Given the description of an element on the screen output the (x, y) to click on. 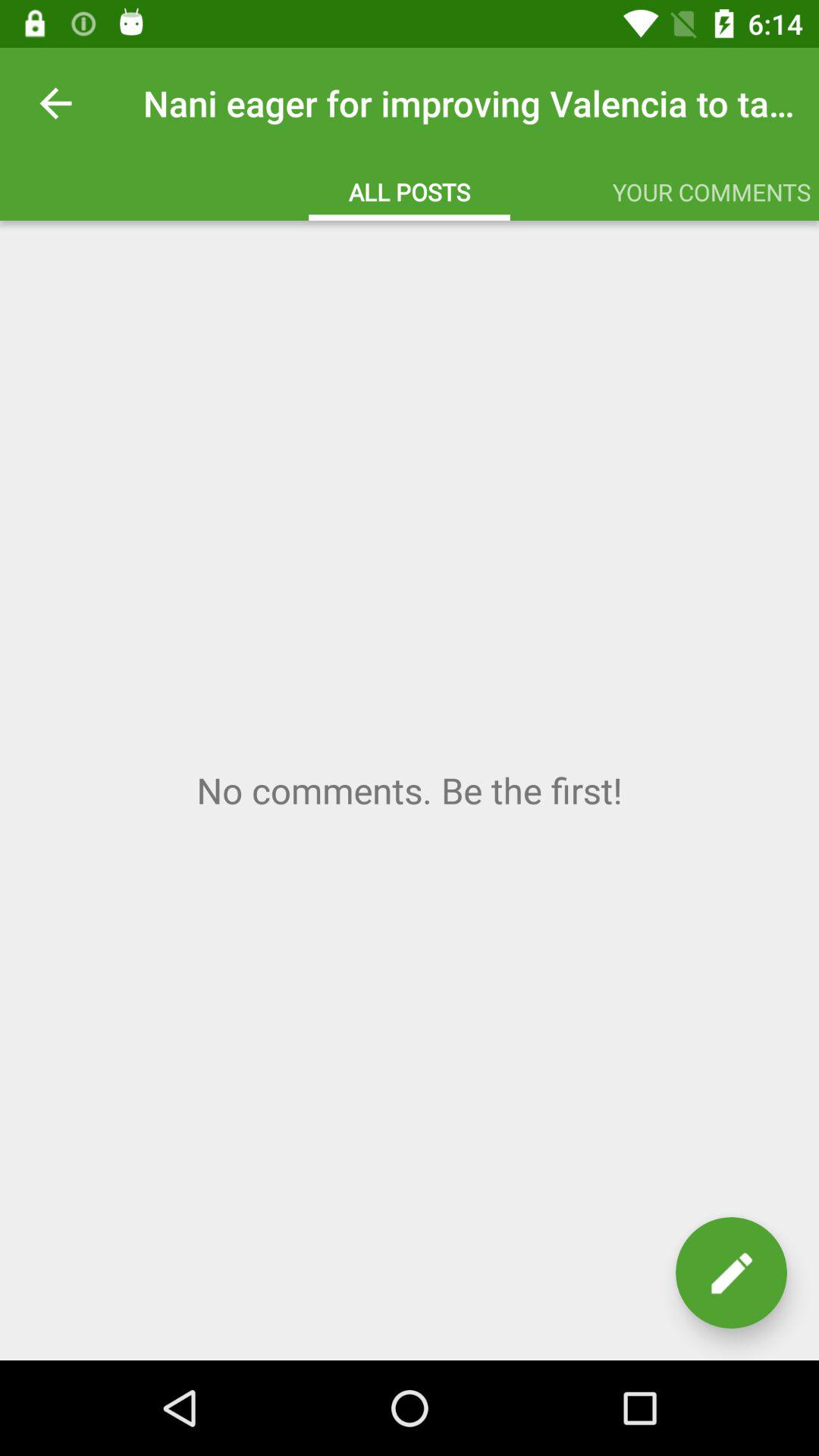
comment container with write comment button (409, 790)
